Given the description of an element on the screen output the (x, y) to click on. 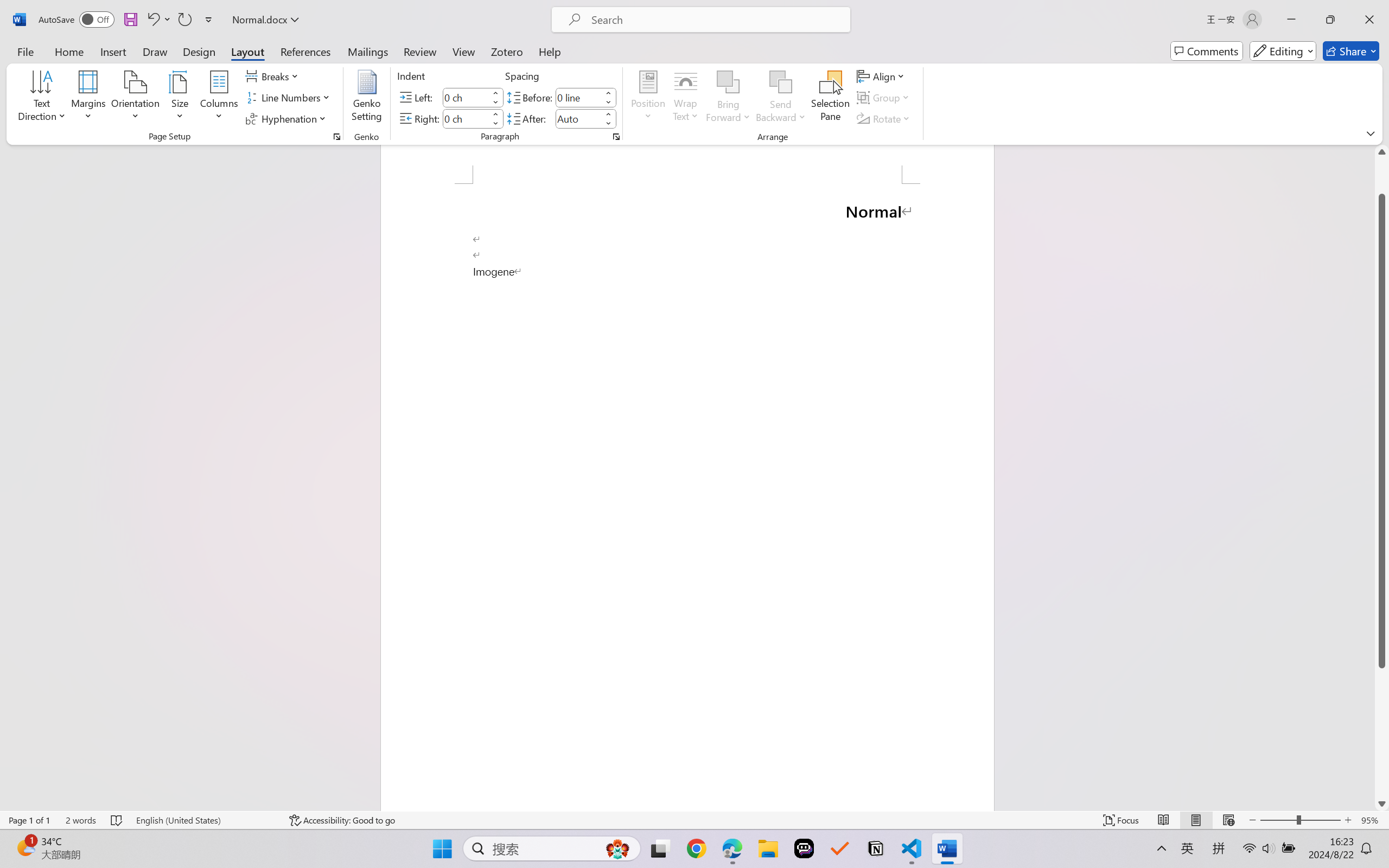
Wrap Text (685, 97)
Page up (1382, 175)
Page Setup... (336, 136)
Hyphenation (287, 118)
Send Backward (781, 97)
Rotate (884, 118)
Margins (88, 97)
Indent Right (465, 118)
Page down (1382, 732)
